Given the description of an element on the screen output the (x, y) to click on. 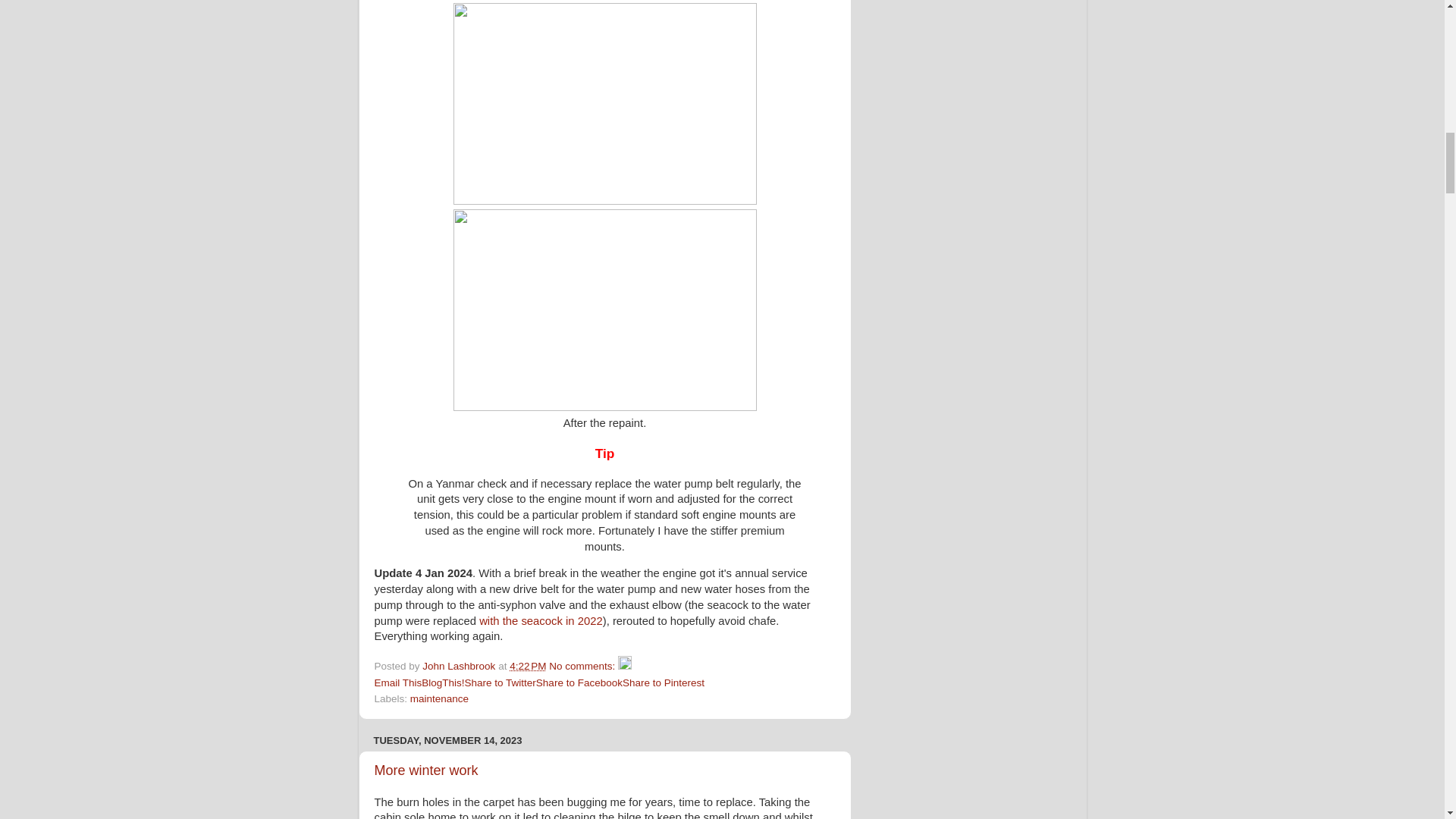
with the seacock in 2022 (540, 621)
Share to Facebook (579, 682)
Share to Twitter (499, 682)
Share to Pinterest (663, 682)
permanent link (527, 665)
BlogThis! (443, 682)
Share to Twitter (499, 682)
Edit Post (624, 665)
Email This (398, 682)
More winter work (426, 770)
John Lashbrook (459, 665)
author profile (459, 665)
Share to Facebook (579, 682)
Email This (398, 682)
maintenance (439, 698)
